Given the description of an element on the screen output the (x, y) to click on. 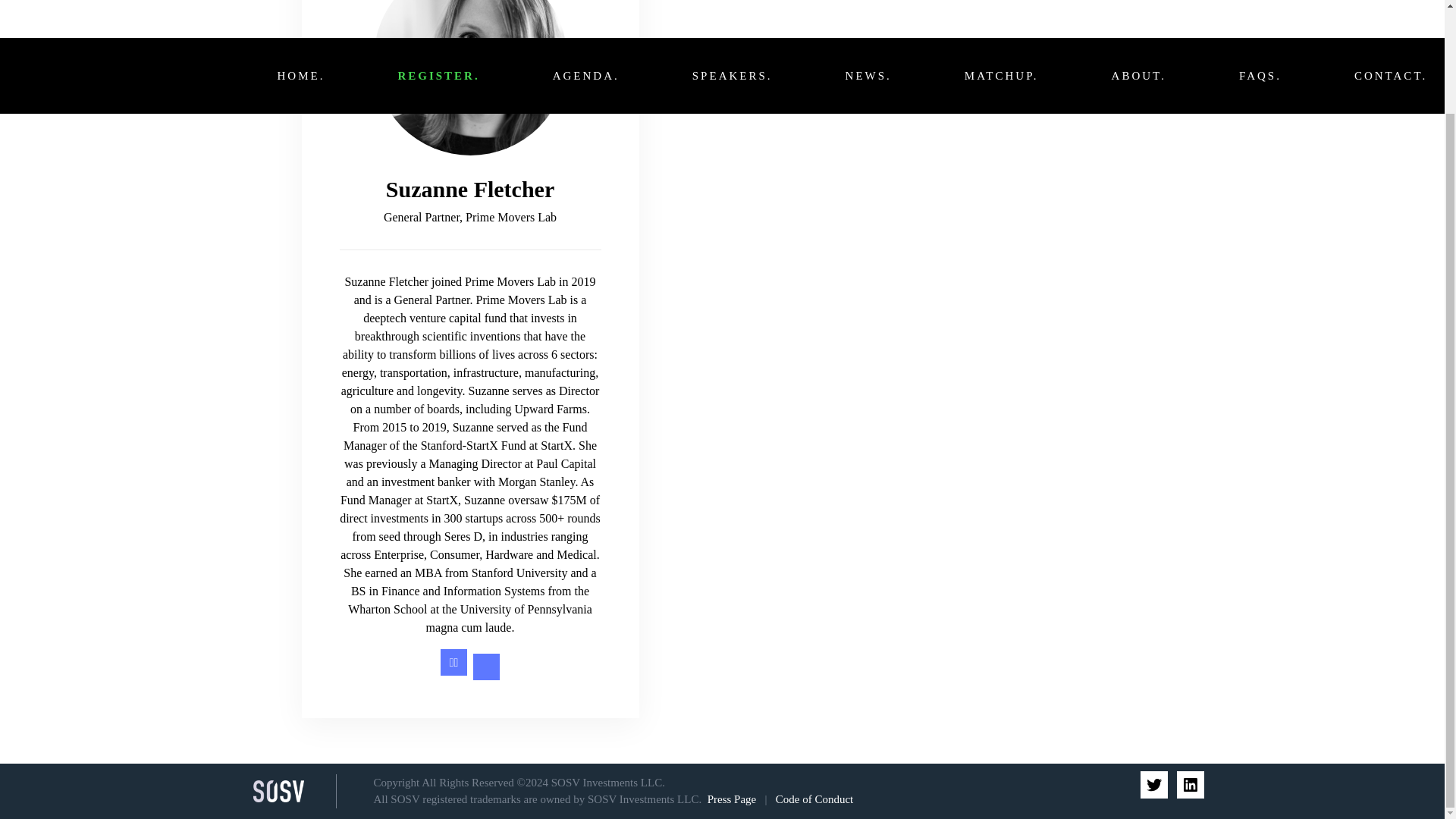
Press Page (732, 799)
LinkedIn (1190, 783)
Code of Conduct (814, 799)
Twitter (1153, 783)
